Given the description of an element on the screen output the (x, y) to click on. 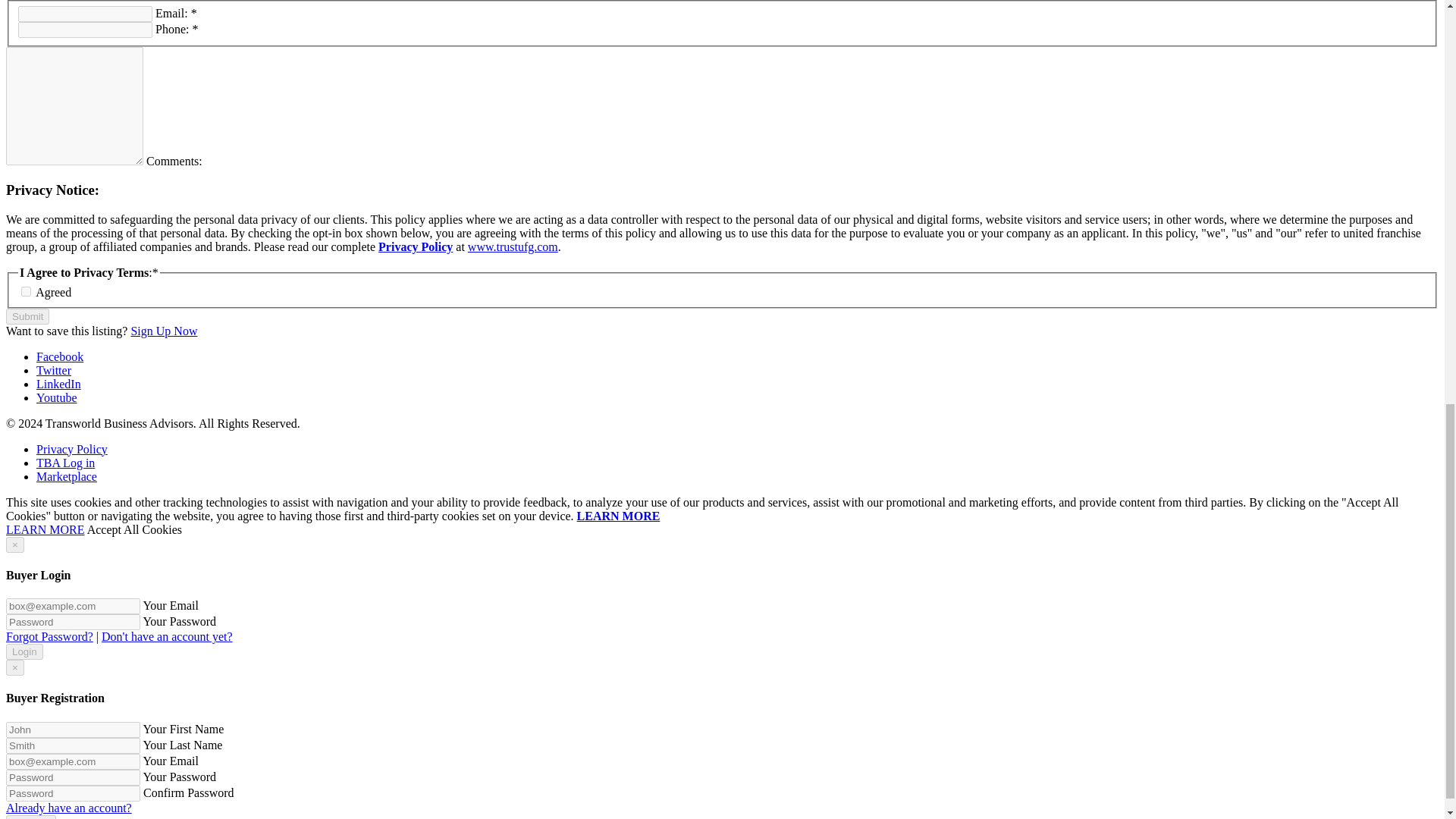
Agreed (25, 291)
Youtube (56, 397)
LEARN MORE (618, 515)
www.trustufg.com (512, 246)
Submit (27, 316)
LEARN MORE (44, 529)
Twitter (53, 369)
Privacy Policy (415, 246)
View us on Youtube (56, 397)
Accept All Cookies (134, 529)
Forgot Password? (49, 635)
LinkedIn (58, 383)
Sign Up Now (163, 330)
Login (24, 651)
Join Us on Facebook (59, 356)
